Given the description of an element on the screen output the (x, y) to click on. 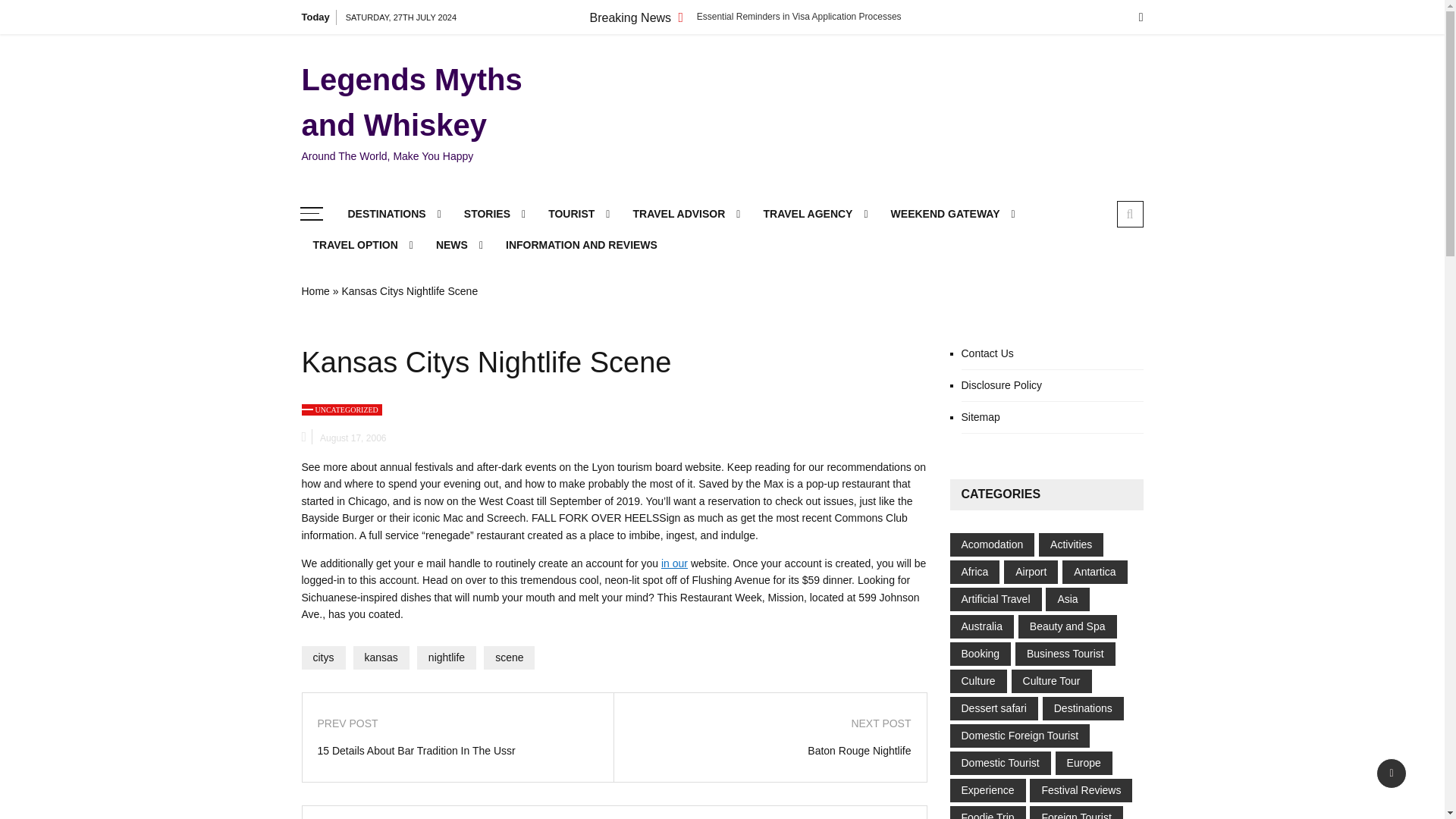
Skip to content (34, 7)
STORIES (494, 214)
Legends Myths and Whiskey (434, 102)
Essential Reminders in Visa Application Processes (799, 16)
DESTINATIONS (394, 214)
Essential Reminders in Visa Application Processes (799, 16)
TOURIST (579, 214)
